Given the description of an element on the screen output the (x, y) to click on. 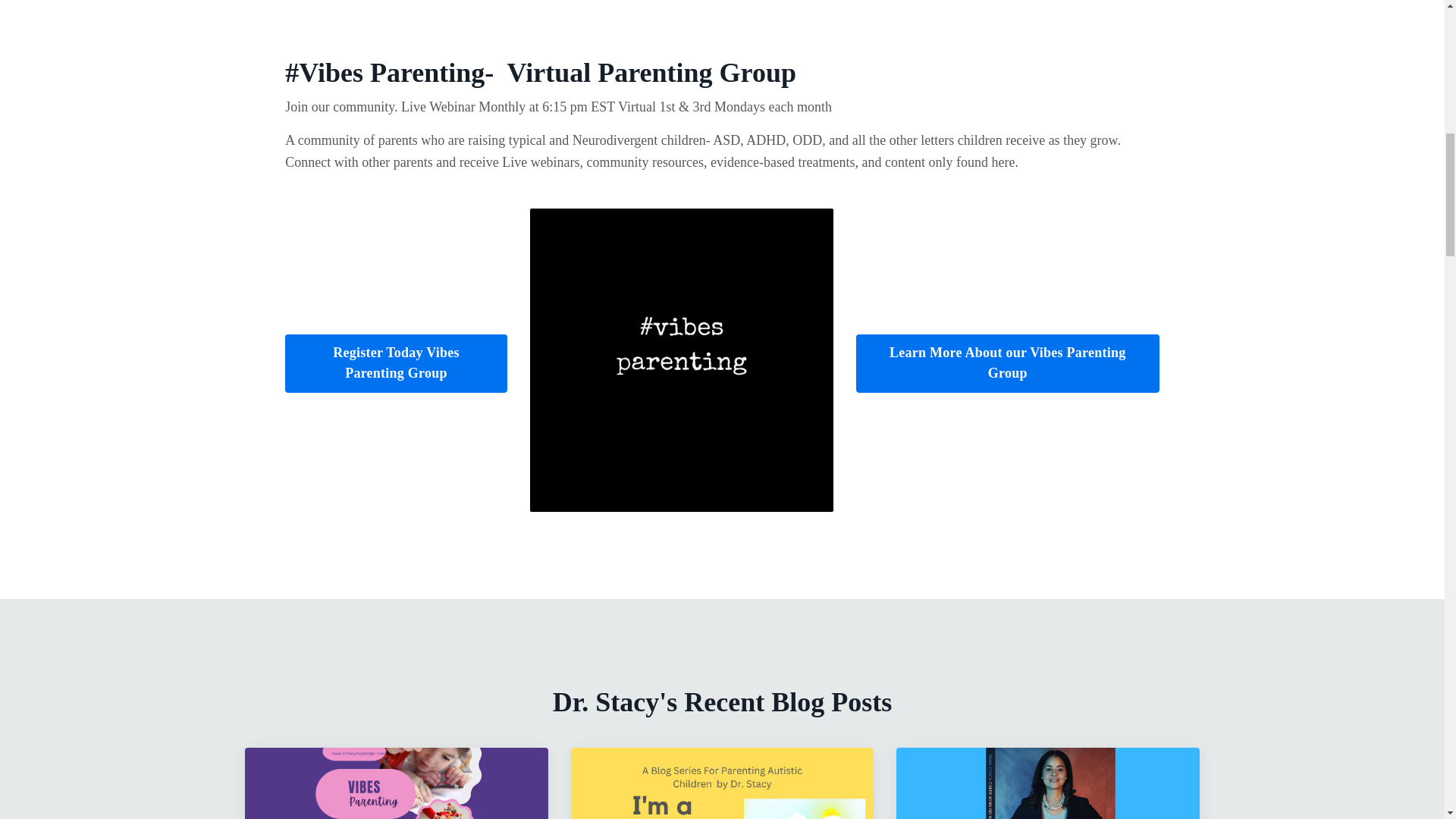
Register Today Vibes Parenting Group (396, 783)
Learn More About our Vibes Parenting Group (721, 783)
